Given the description of an element on the screen output the (x, y) to click on. 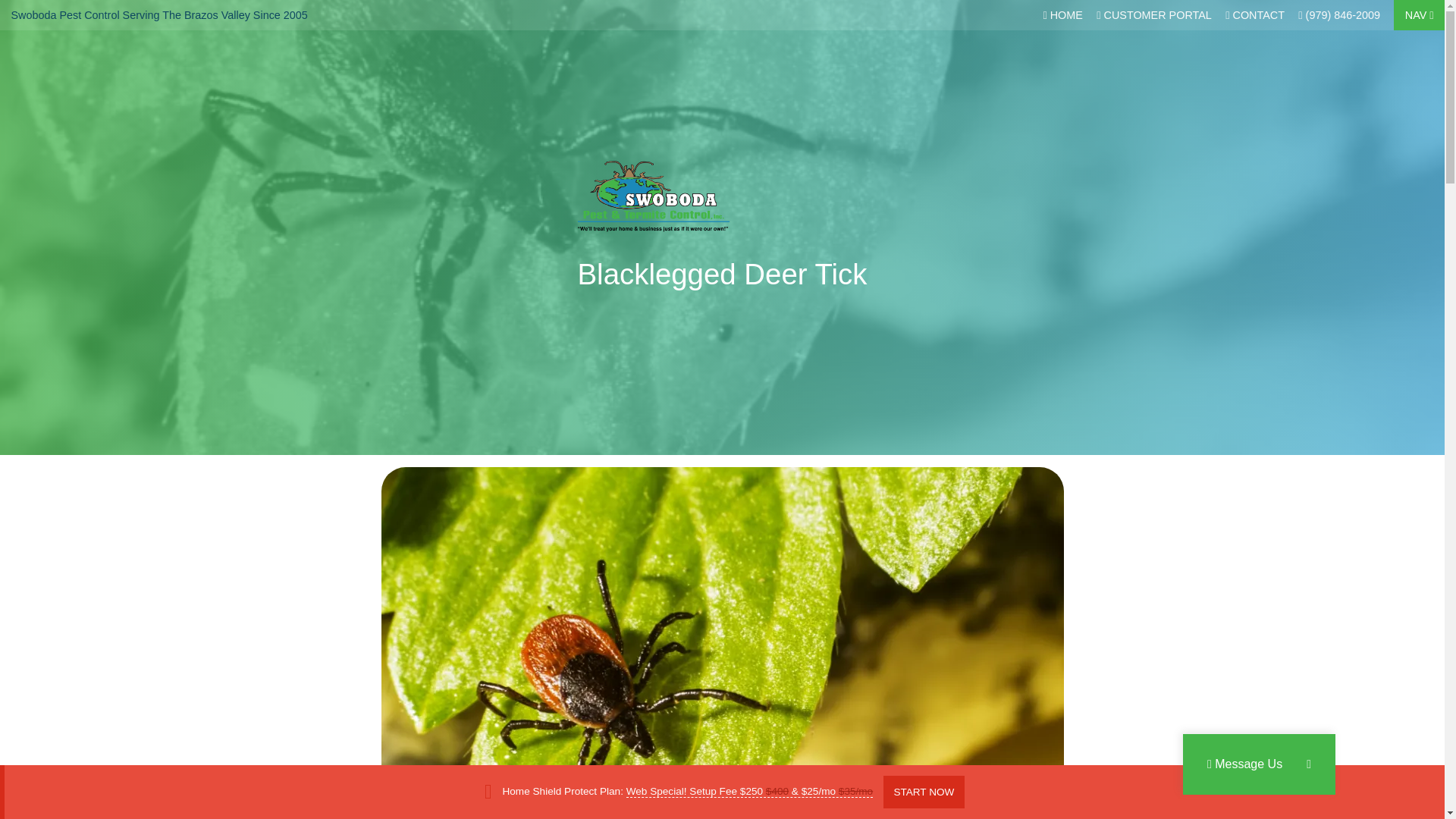
START NOW (923, 792)
Blacklegged Deer Tick (722, 274)
HOME (1061, 15)
CONTACT (1255, 15)
CUSTOMER PORTAL (1153, 15)
Swoboda Pest Control (64, 15)
